Given the description of an element on the screen output the (x, y) to click on. 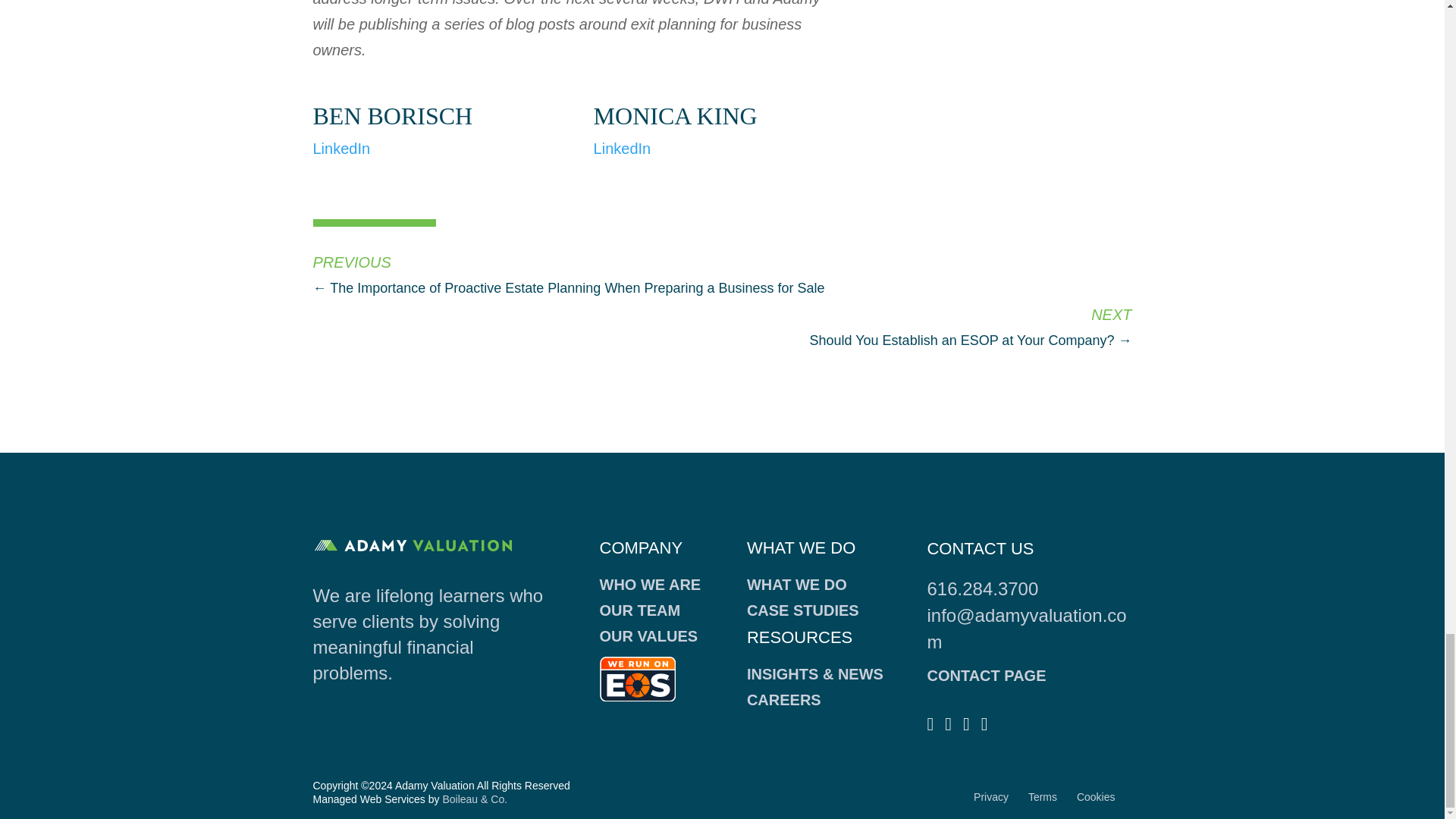
white-green-adamy-logo (412, 545)
Managed Web Services (474, 799)
We-Run-on-EOS-Badge (636, 678)
